Given the description of an element on the screen output the (x, y) to click on. 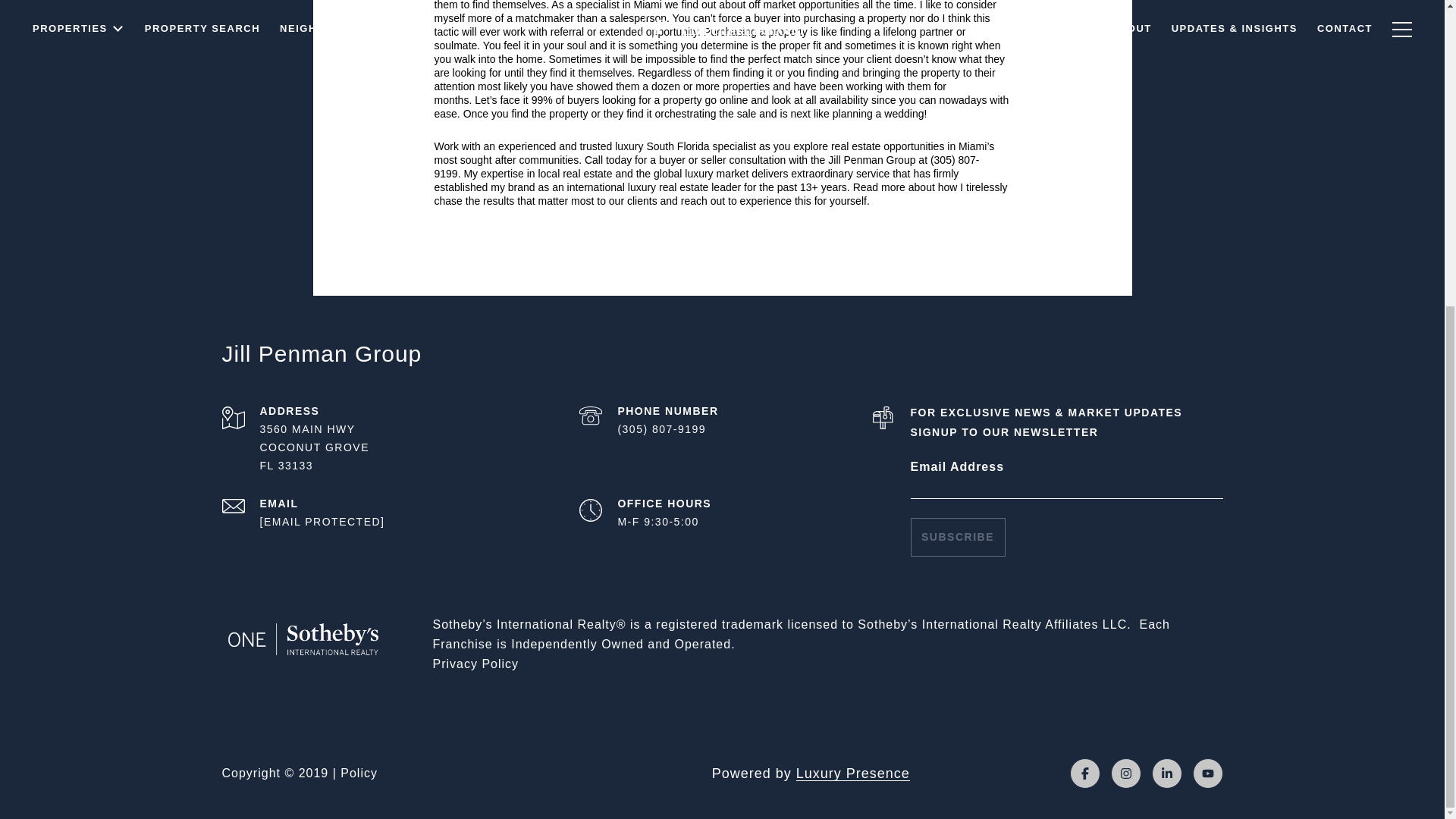
SUBSCRIBE (957, 536)
Luxury Presence (853, 773)
Privacy Policy (475, 663)
Policy (358, 772)
results that matter most to our clients (570, 200)
SUBSCRIBE (957, 536)
